Given the description of an element on the screen output the (x, y) to click on. 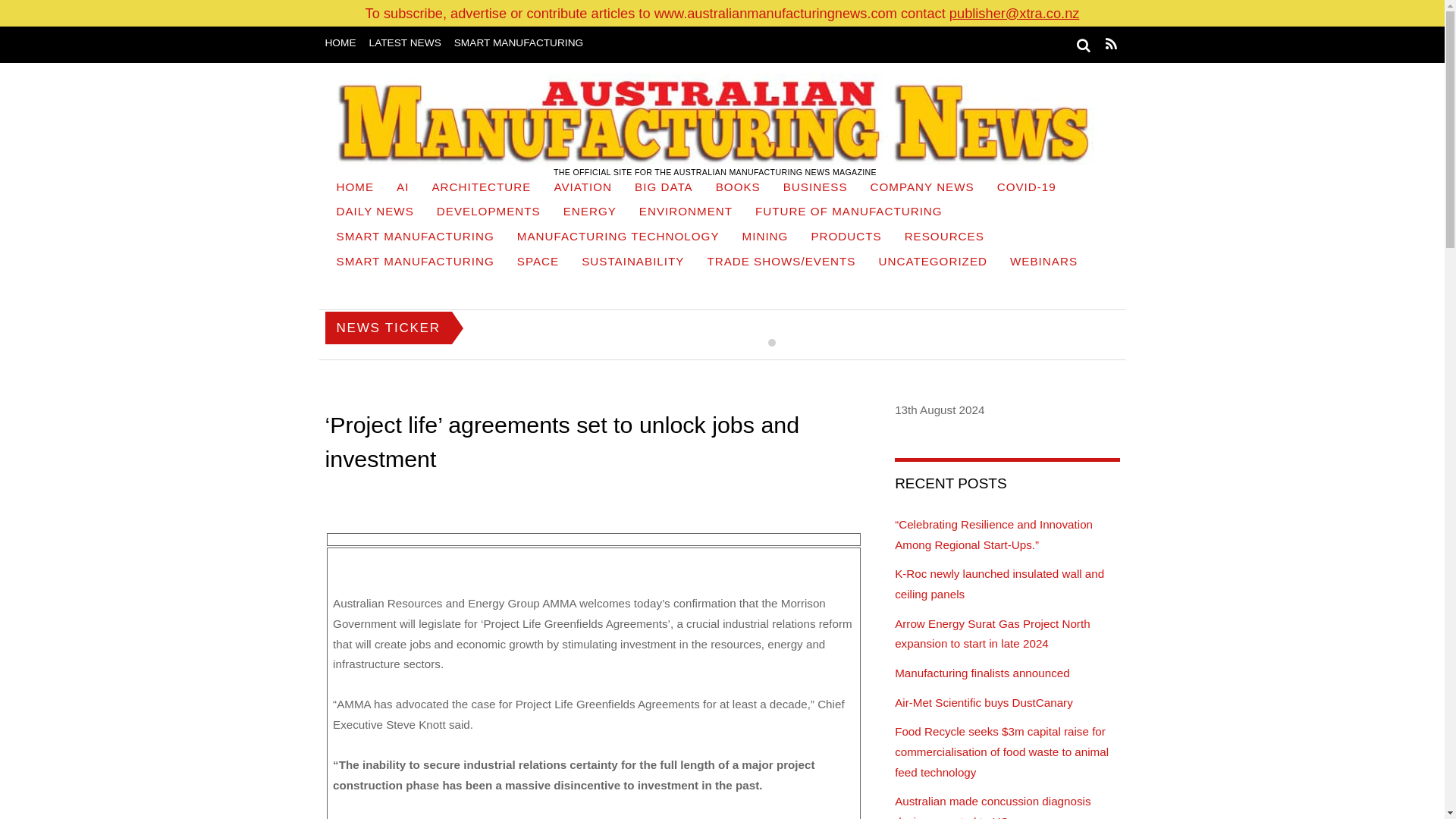
SUSTAINABILITY (632, 263)
AI (402, 188)
DEVELOPMENTS (488, 213)
ENVIRONMENT (685, 213)
SMART MANUFACTURING (414, 238)
SPACE (537, 263)
HOME (354, 188)
AVIATION (582, 188)
SMART MANUFACTURING (518, 42)
COMPANY NEWS (922, 188)
